Given the description of an element on the screen output the (x, y) to click on. 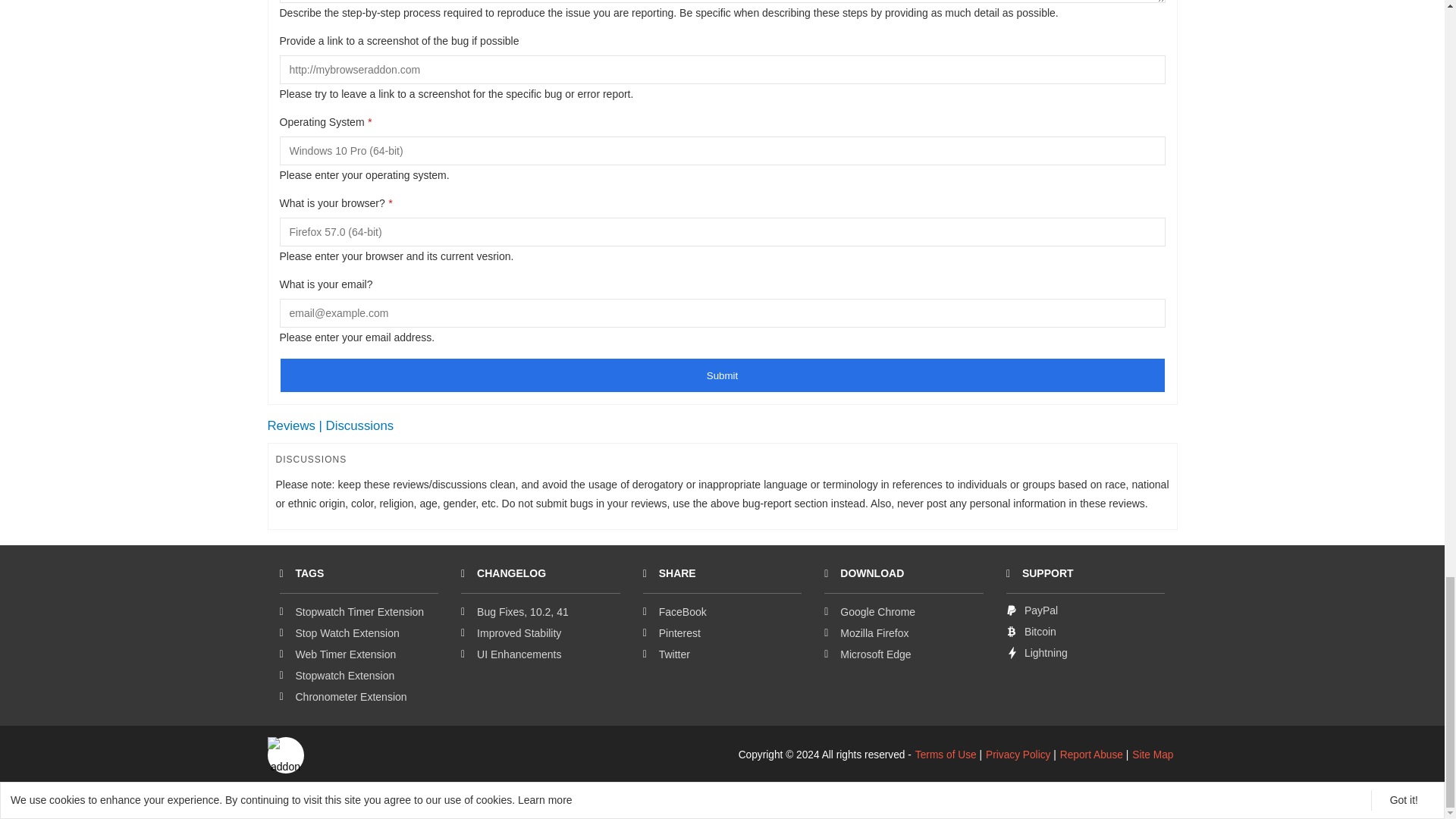
Microsoft Edge (867, 654)
FaceBook (674, 612)
Pinterest (671, 633)
Google Chrome (869, 612)
Twitter (666, 654)
Mozilla Firefox (866, 633)
Submit (721, 375)
